Given the description of an element on the screen output the (x, y) to click on. 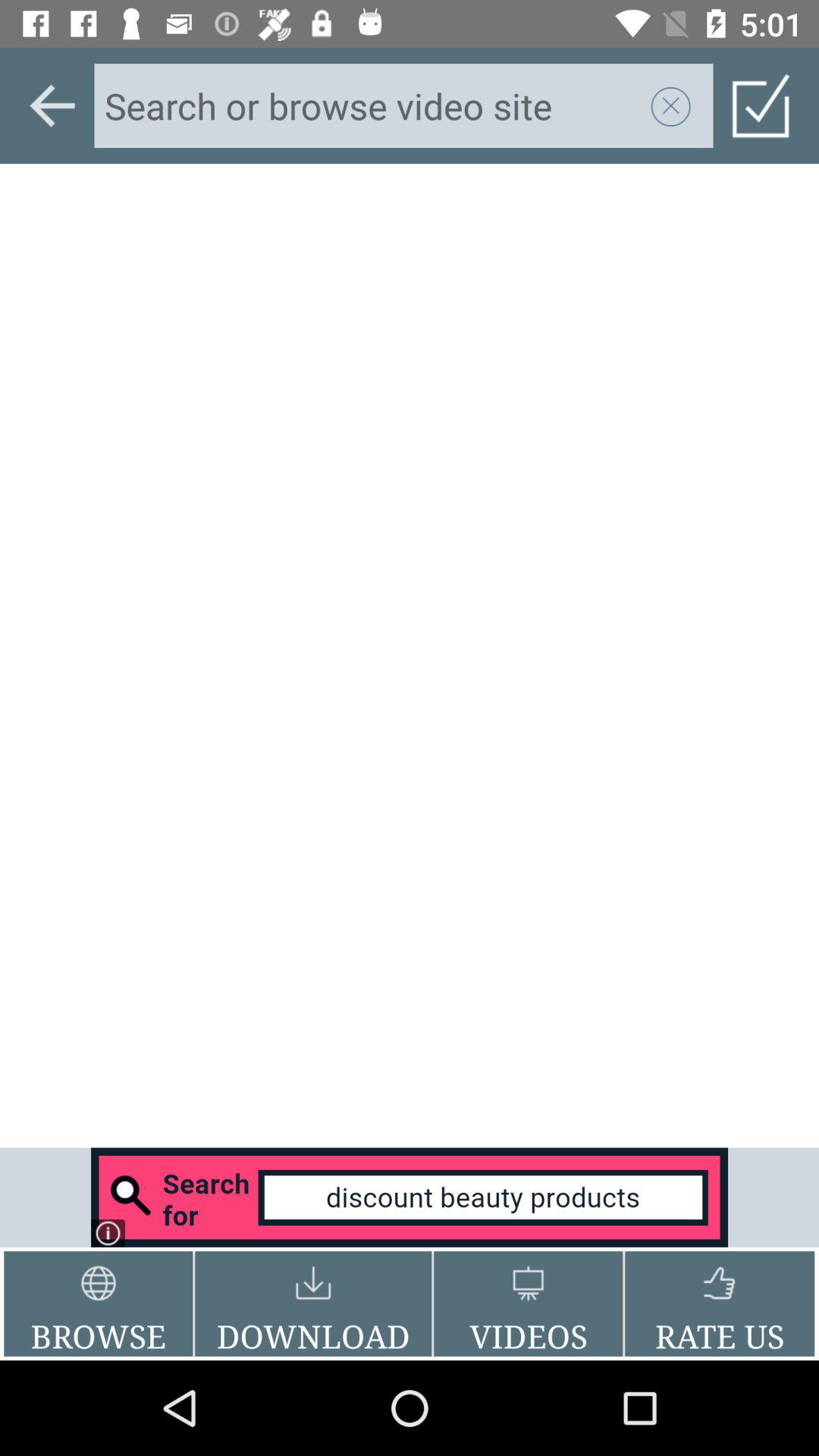
turn off button above the browse icon (409, 1197)
